Given the description of an element on the screen output the (x, y) to click on. 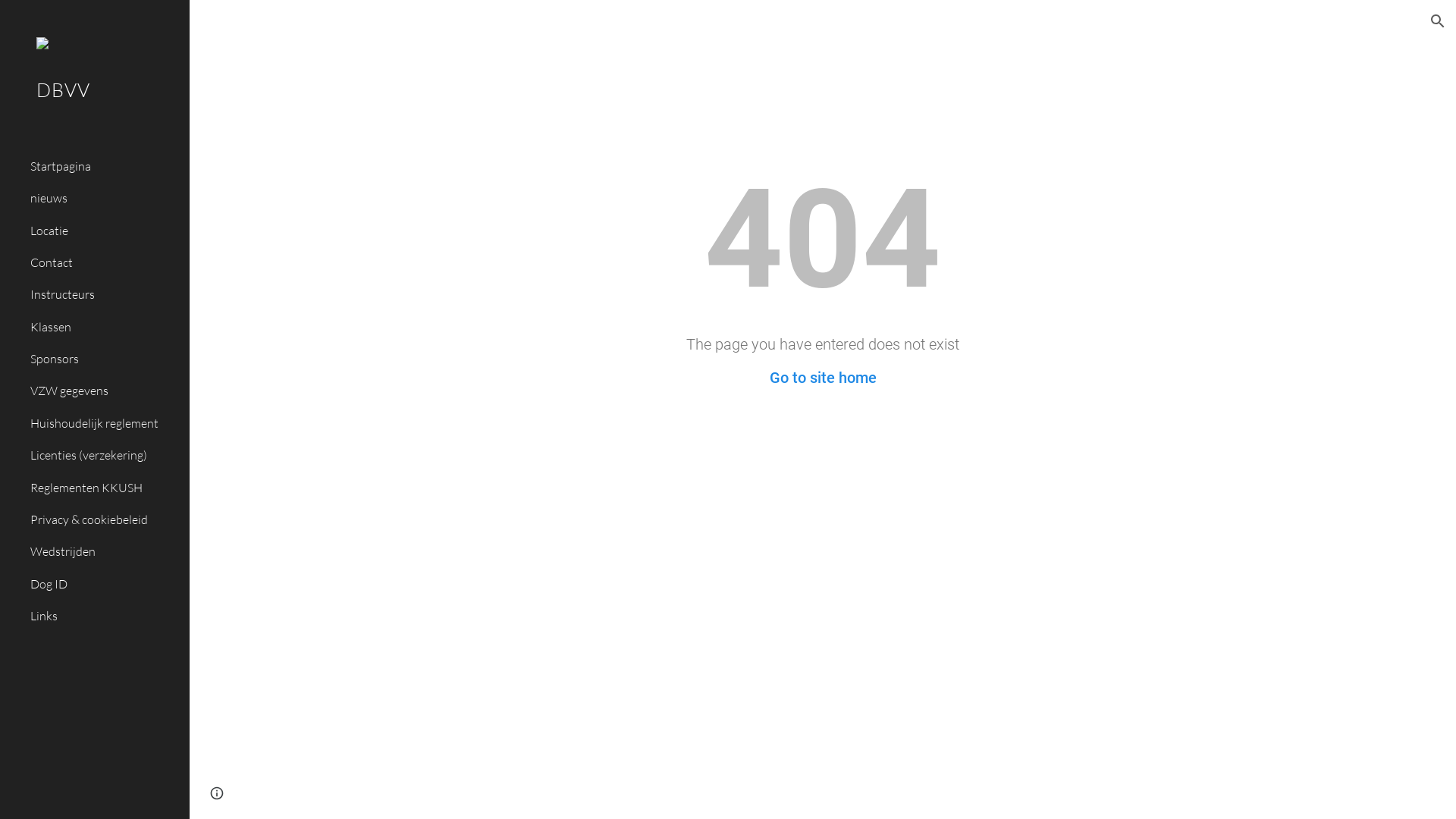
Startpagina Element type: text (103, 166)
nieuws Element type: text (103, 198)
Licenties (verzekering) Element type: text (103, 455)
Huishoudelijk reglement Element type: text (103, 423)
Instructeurs Element type: text (103, 294)
Klassen Element type: text (103, 326)
DBVV Element type: text (94, 109)
VZW gegevens Element type: text (103, 391)
Wedstrijden Element type: text (103, 551)
Locatie Element type: text (103, 230)
Sponsors Element type: text (103, 359)
Dog ID Element type: text (103, 583)
Go to site home Element type: text (821, 377)
Links Element type: text (103, 615)
Reglementen KKUSH Element type: text (103, 487)
Contact Element type: text (103, 263)
Privacy & cookiebeleid Element type: text (103, 519)
